Given the description of an element on the screen output the (x, y) to click on. 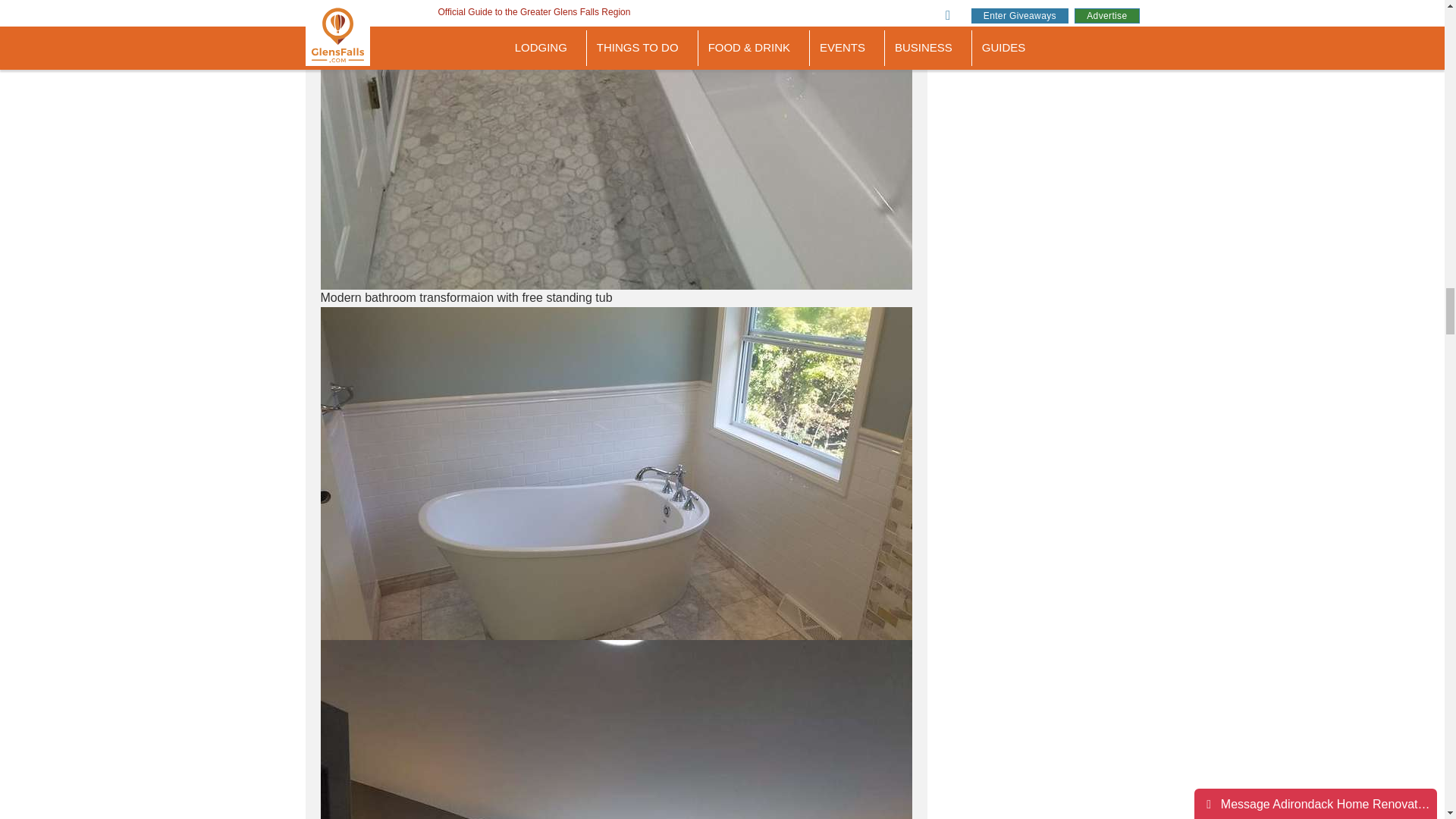
Transform your bathroom into a luxurious spa space. (615, 729)
